Given the description of an element on the screen output the (x, y) to click on. 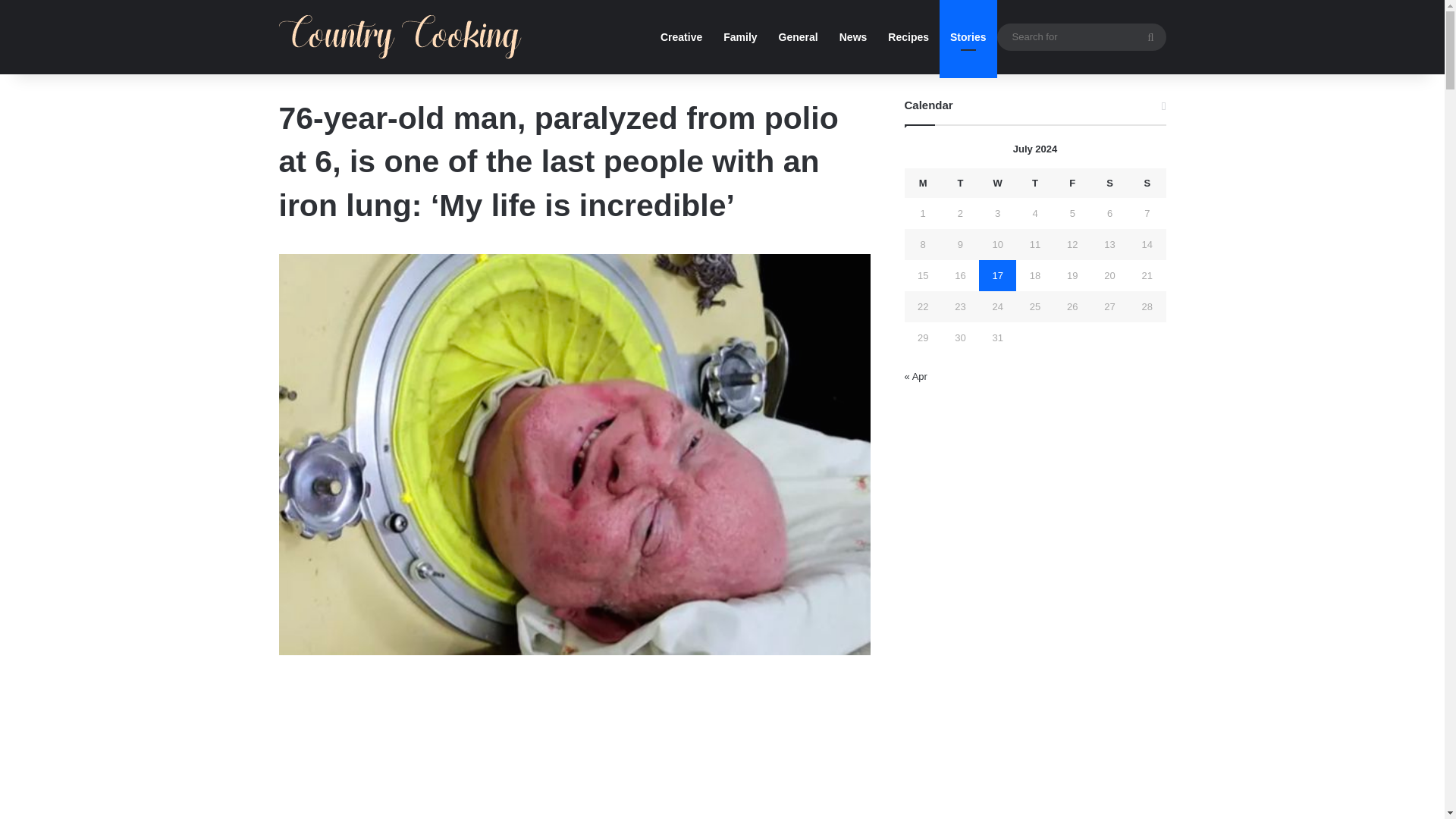
Advertisement (574, 751)
Thursday (1034, 183)
Tuesday (960, 183)
Friday (1072, 183)
Monday (923, 183)
Search for (1080, 36)
Sunday (1147, 183)
Search for (1150, 36)
Wednesday (997, 183)
Saturday (1109, 183)
